Given the description of an element on the screen output the (x, y) to click on. 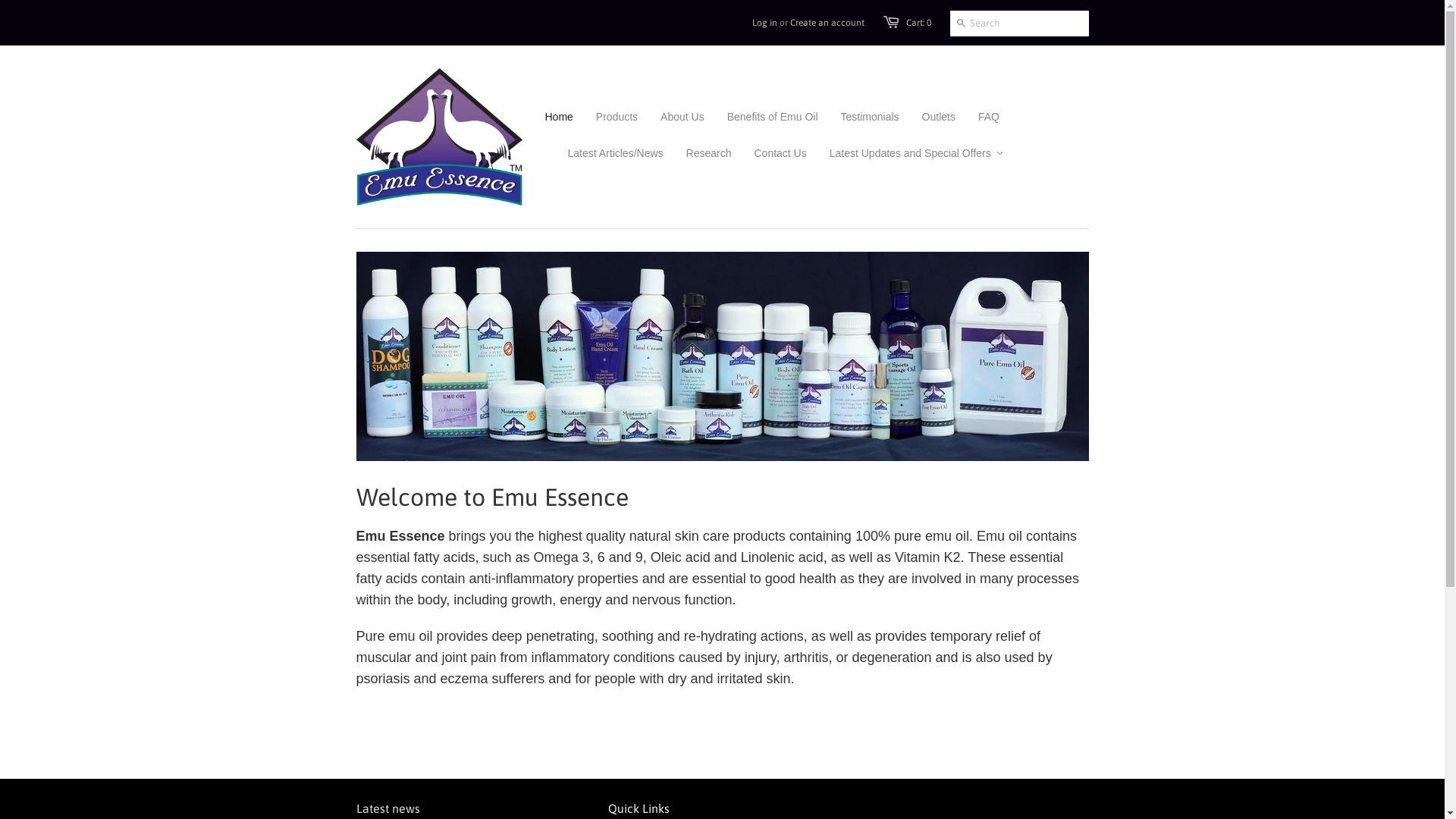
About Us Element type: text (670, 116)
Testimonials Element type: text (858, 116)
Outlets Element type: text (927, 116)
Cart: 0 Element type: text (917, 22)
Latest news Element type: text (388, 808)
Latest Articles/News Element type: text (603, 152)
Latest Updates and Special Offers Element type: text (904, 152)
Products Element type: text (605, 116)
Create an account Element type: text (827, 22)
Contact Us Element type: text (768, 152)
FAQ Element type: text (977, 116)
Research Element type: text (697, 152)
Log in Element type: text (764, 22)
Benefits of Emu Oil Element type: text (761, 116)
Home Element type: text (558, 116)
